Given the description of an element on the screen output the (x, y) to click on. 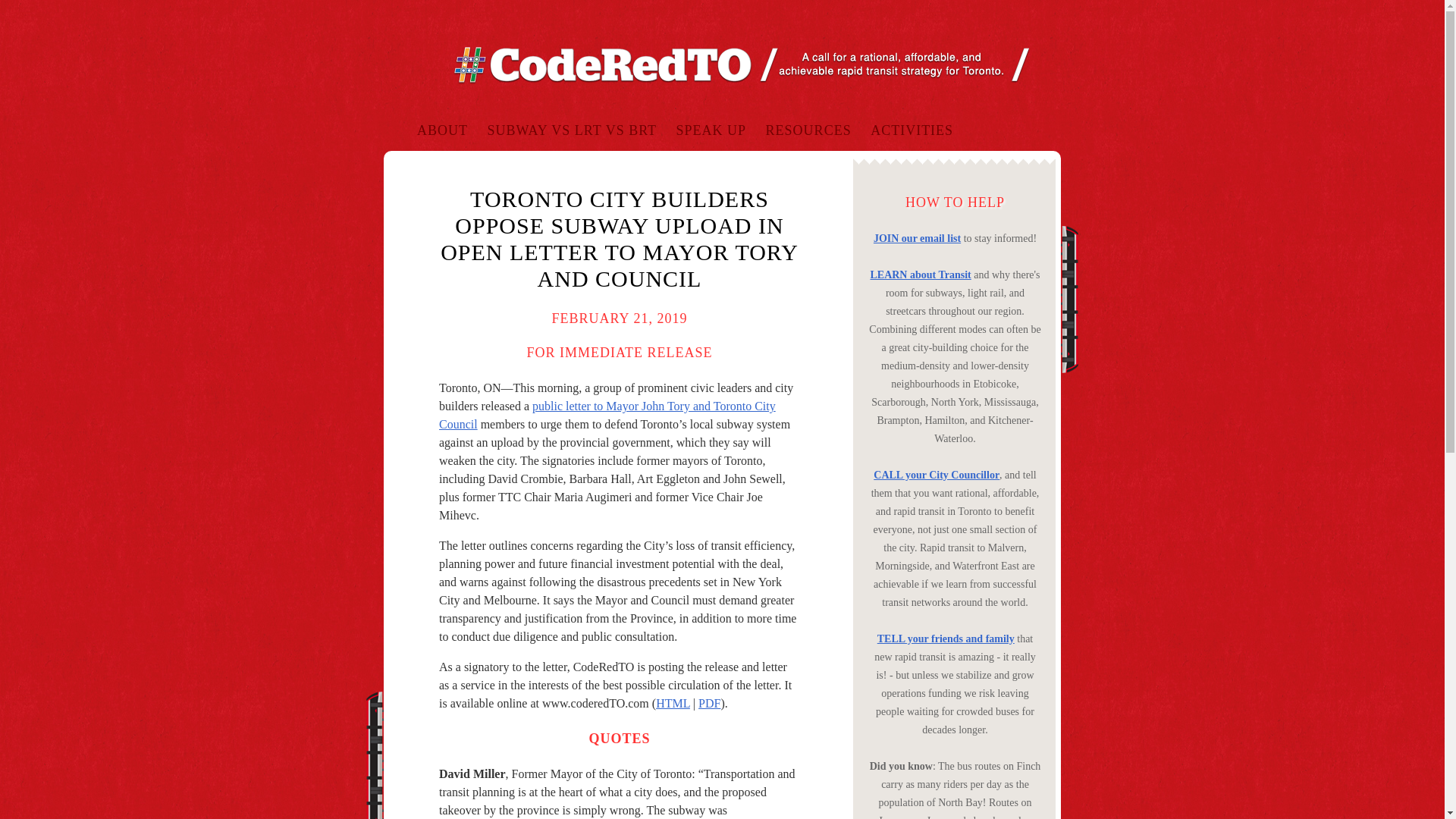
public letter to Mayor John Tory and Toronto City Council (607, 414)
TELL your friends and family (945, 638)
LEARN about Transit (920, 274)
SUBWAY VS LRT VS BRT (571, 130)
CALL your City Councillor (935, 474)
SPEAK UP (711, 130)
RESOURCES (808, 130)
HTML (673, 703)
JOIN our email list (916, 238)
ACTIVITIES (911, 130)
